Given the description of an element on the screen output the (x, y) to click on. 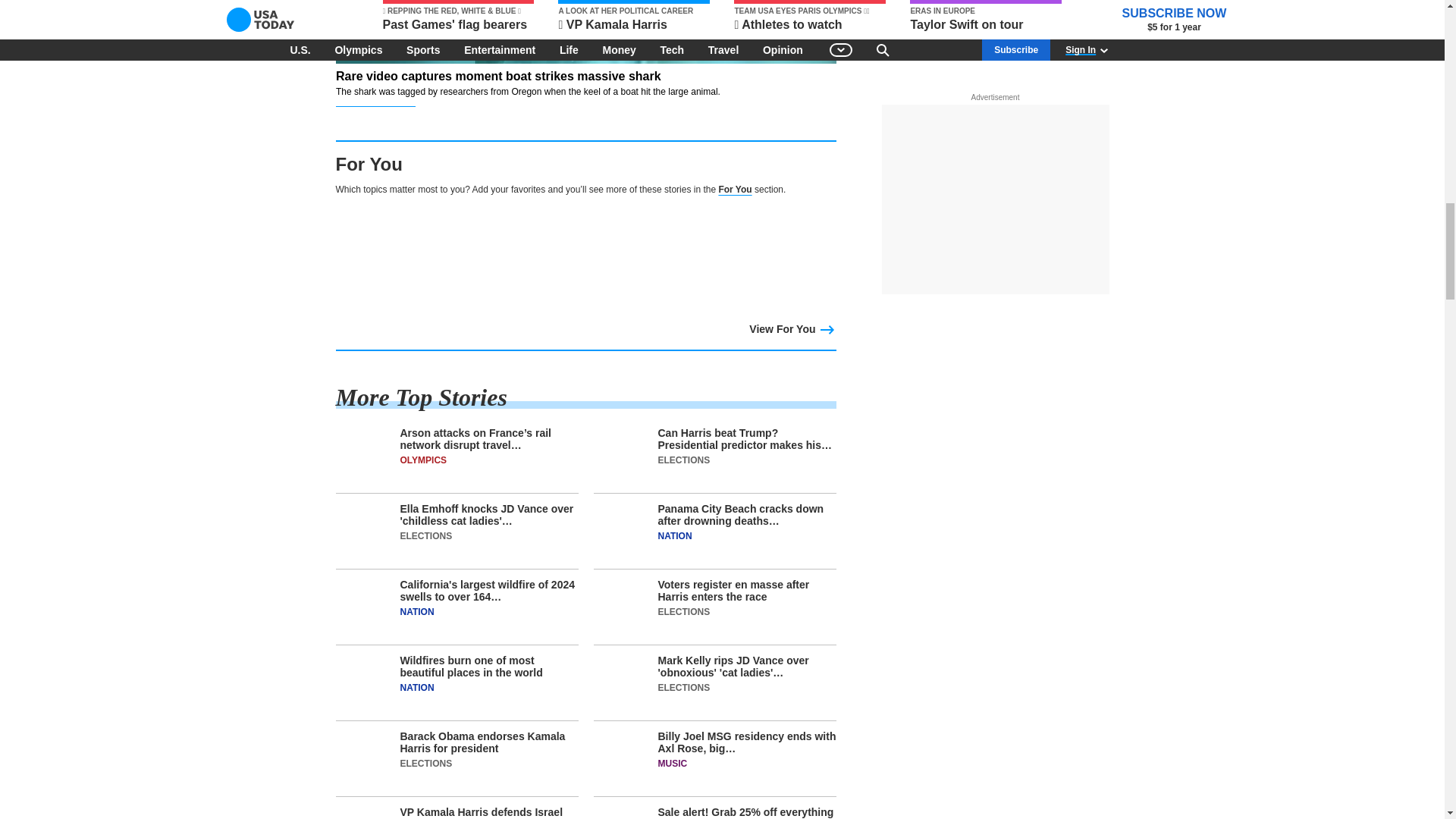
Billy Joel MSG residency ends with Axl Rose, big surprises (713, 763)
